Given the description of an element on the screen output the (x, y) to click on. 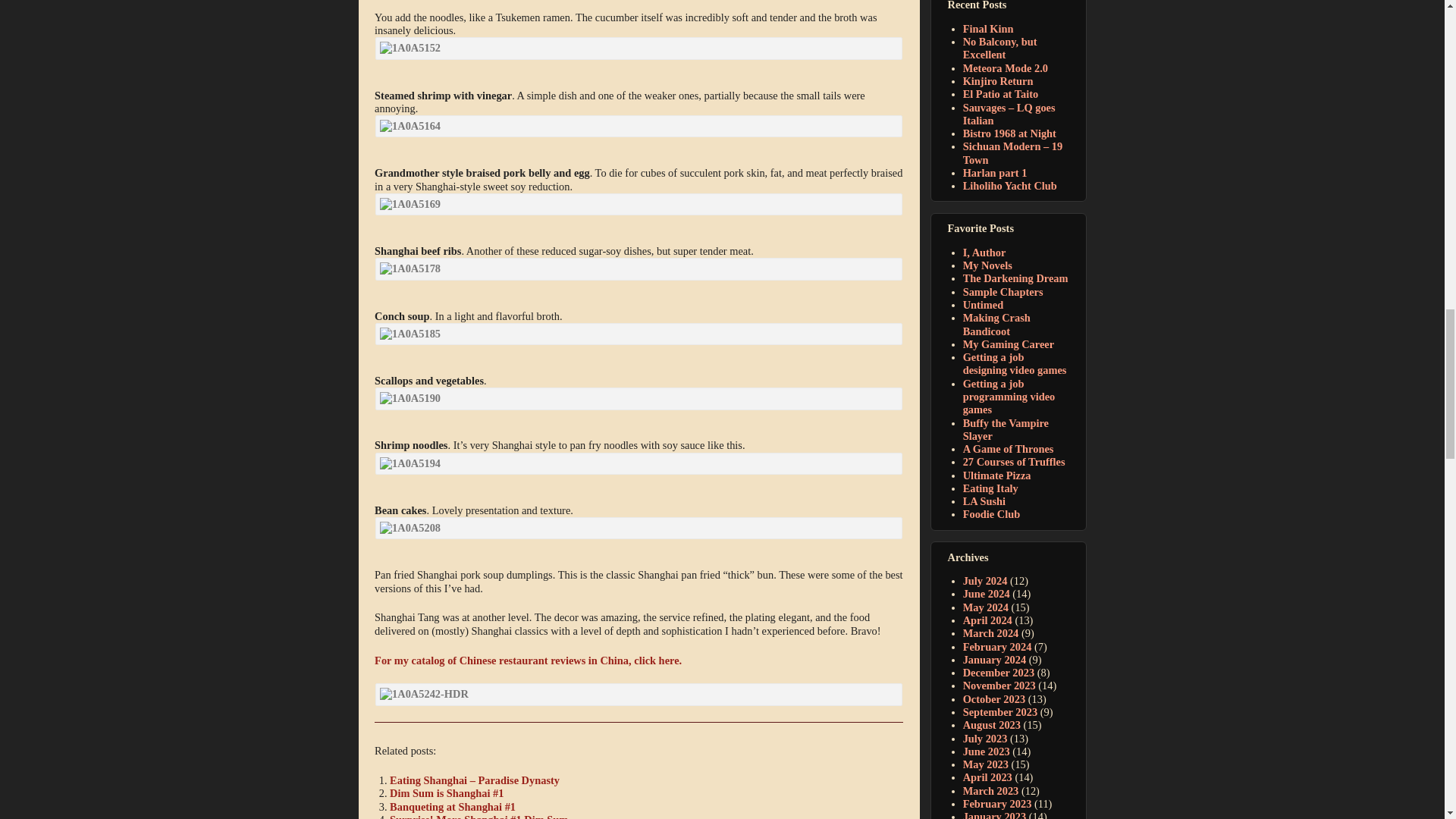
Eating China (527, 660)
